Given the description of an element on the screen output the (x, y) to click on. 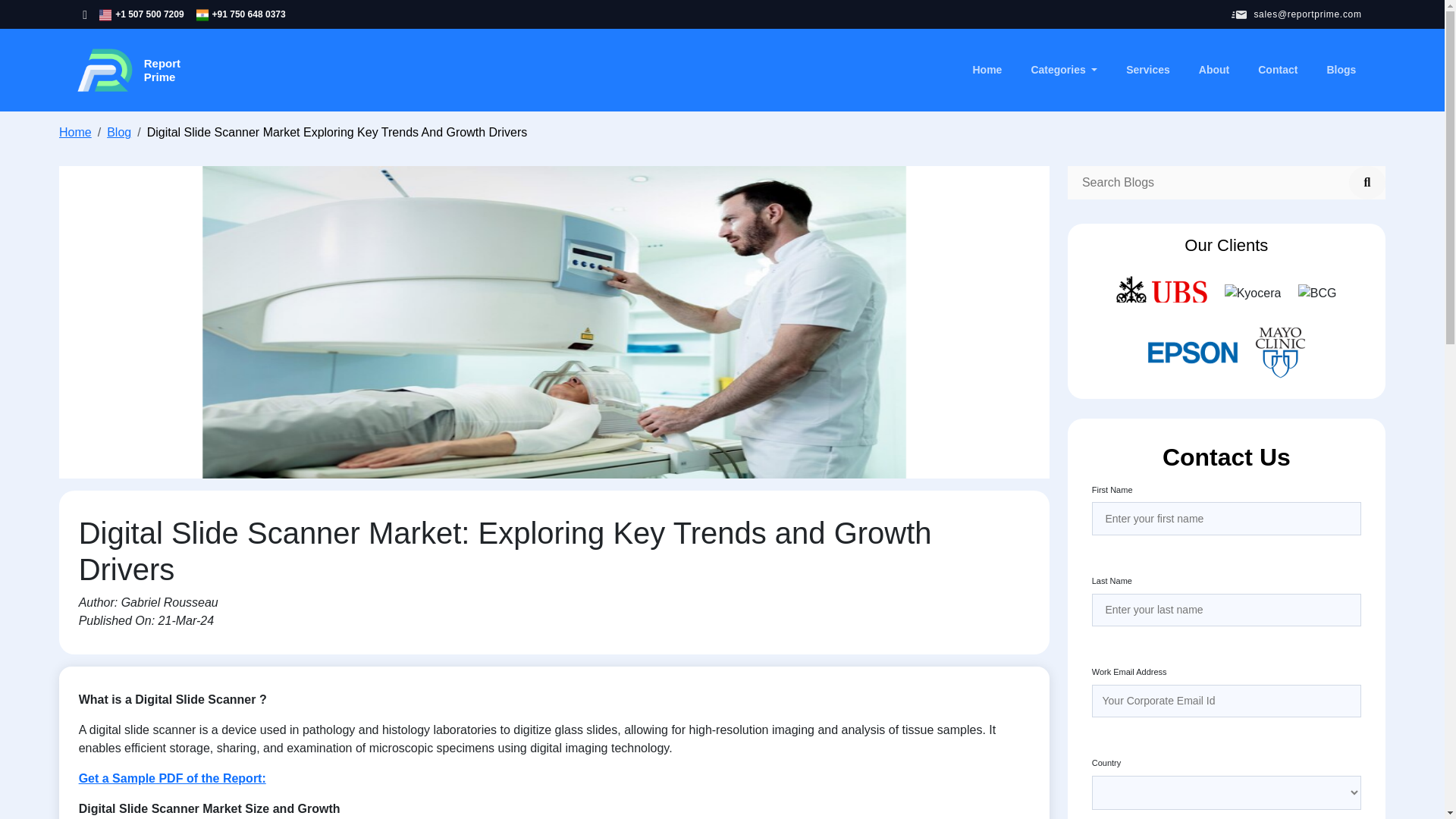
Home (75, 132)
Home (986, 70)
Services (1147, 70)
About (127, 69)
Contact (1213, 70)
Categories (1277, 70)
Get a Sample PDF of the Report: (1064, 70)
Blog (172, 778)
